Given the description of an element on the screen output the (x, y) to click on. 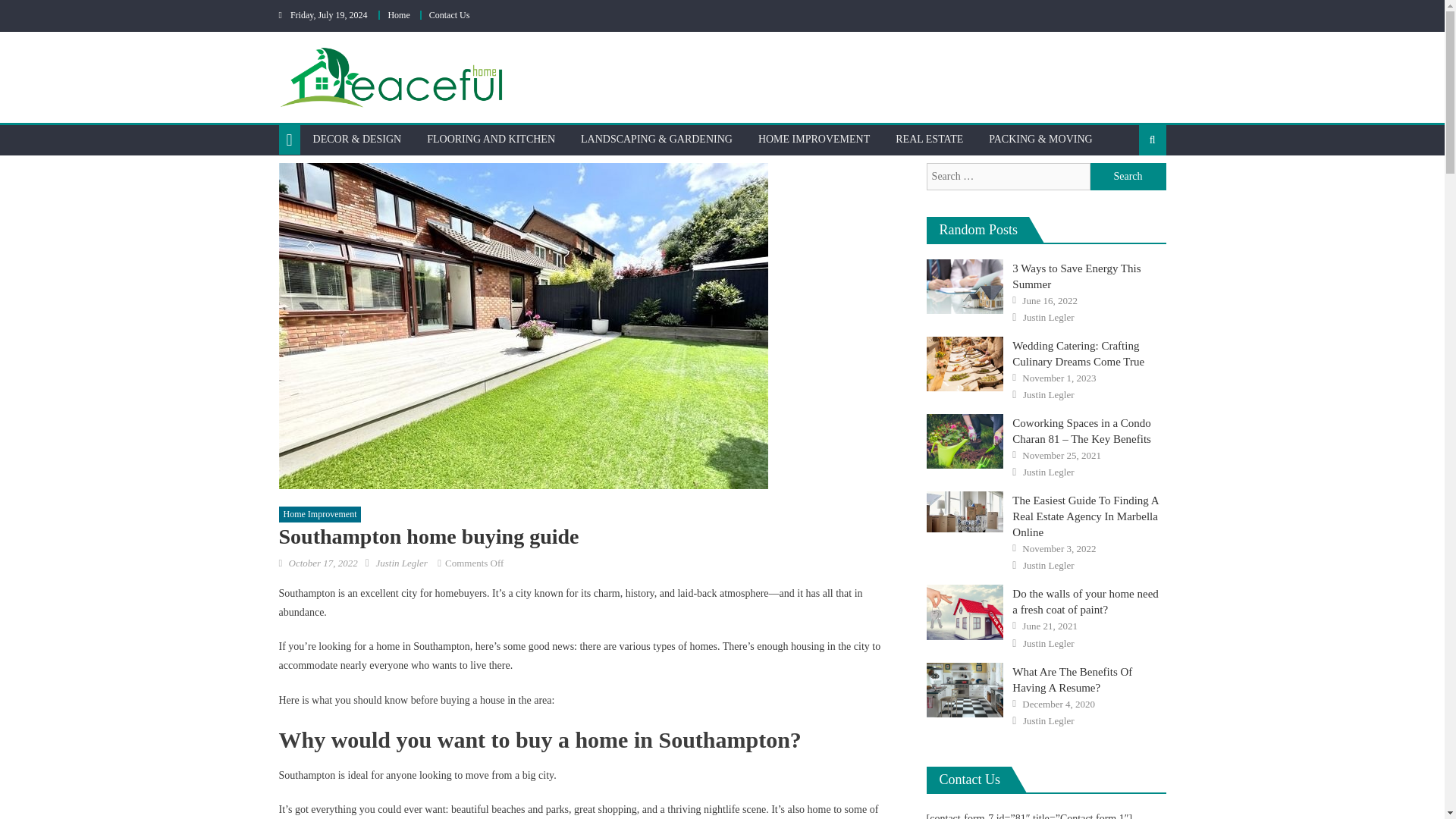
3 Ways to Save Energy This Summer (964, 286)
HOME IMPROVEMENT (813, 139)
Search (1128, 188)
Search (1128, 176)
FLOORING AND KITCHEN (490, 139)
October 17, 2022 (322, 562)
Home Improvement (320, 514)
Do the walls of your home need a fresh coat of paint? (964, 611)
Justin Legler (400, 562)
What Are The Benefits Of Having A Resume? (964, 689)
Contact Us (449, 14)
Search (1128, 176)
REAL ESTATE (928, 139)
Wedding Catering: Crafting Culinary Dreams Come True (964, 363)
